Given the description of an element on the screen output the (x, y) to click on. 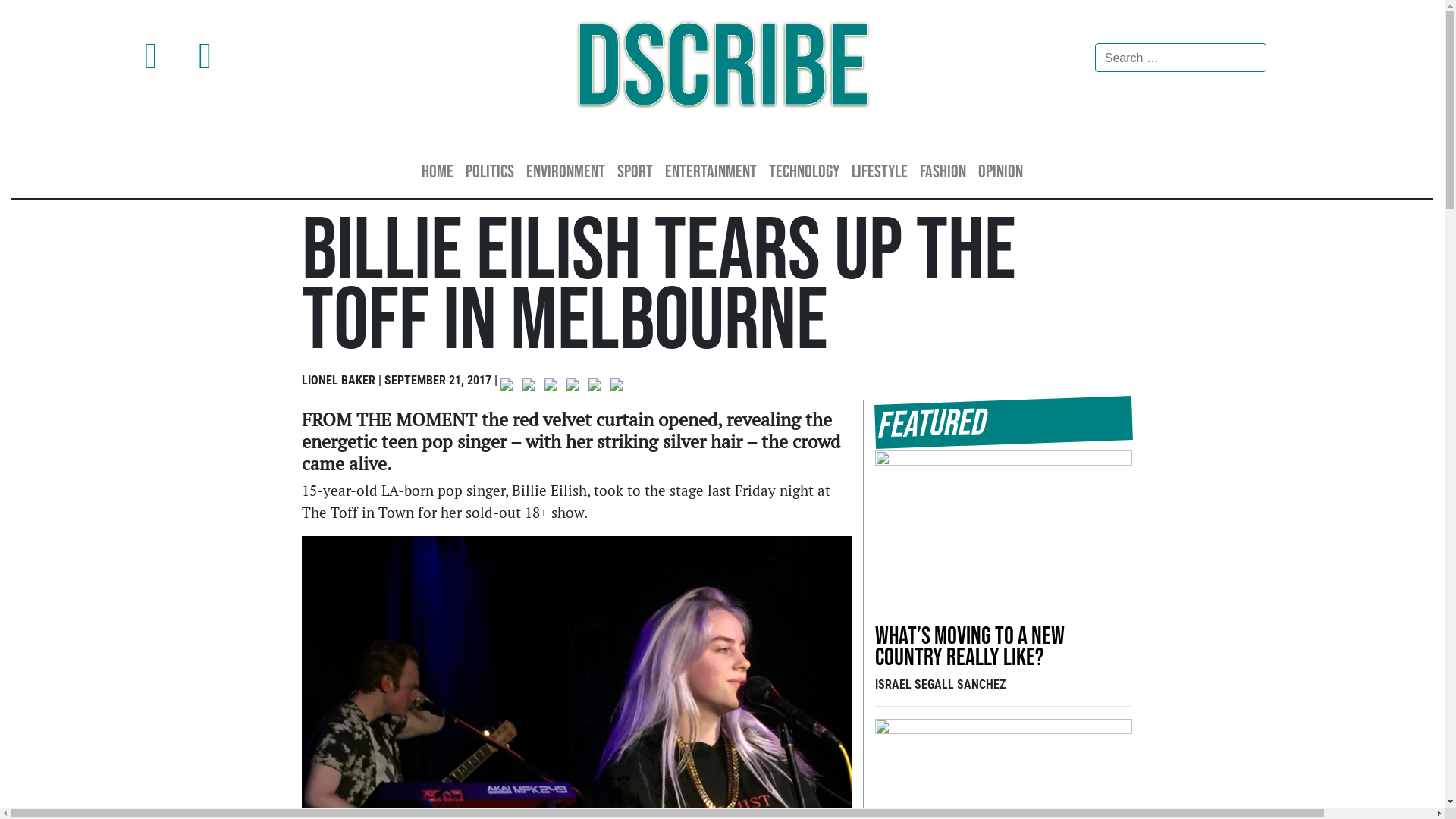
HOME Element type: text (437, 171)
SPORT Element type: text (634, 171)
Share on Twitter Element type: hover (530, 387)
FASHION Element type: text (942, 171)
TECHNOLOGY Element type: text (803, 171)
ENVIRONMENT Element type: text (565, 171)
Share by email Element type: hover (615, 384)
Share on Linkedin Element type: hover (594, 384)
Share on Facebook Element type: hover (506, 384)
Pin it with Pinterest Element type: hover (574, 387)
DSCRIBE Element type: text (721, 69)
Share on Facebook Element type: hover (509, 387)
ENTERTAINMENT Element type: text (710, 171)
Share on Reddit Element type: hover (550, 384)
Share on Linkedin Element type: hover (597, 387)
Share by email Element type: hover (618, 387)
POLITICS Element type: text (489, 171)
Search for: Element type: hover (1180, 57)
LIFESTYLE Element type: text (879, 171)
Pin it with Pinterest Element type: hover (571, 384)
OPINION Element type: text (1000, 171)
Share on Twitter Element type: hover (527, 384)
Share on Reddit Element type: hover (553, 387)
